Given the description of an element on the screen output the (x, y) to click on. 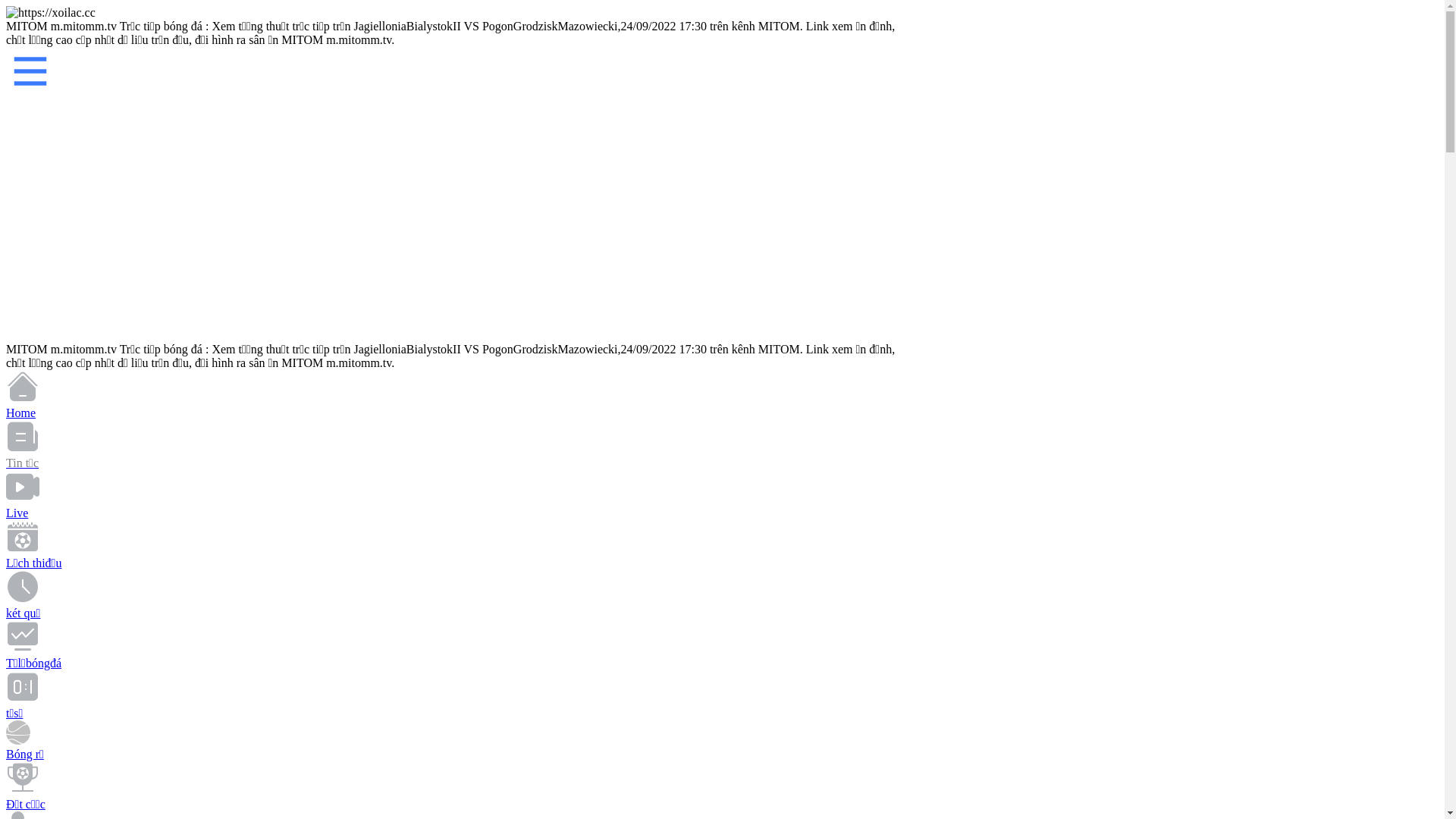
Home Element type: text (461, 423)
Live Element type: text (461, 523)
